Given the description of an element on the screen output the (x, y) to click on. 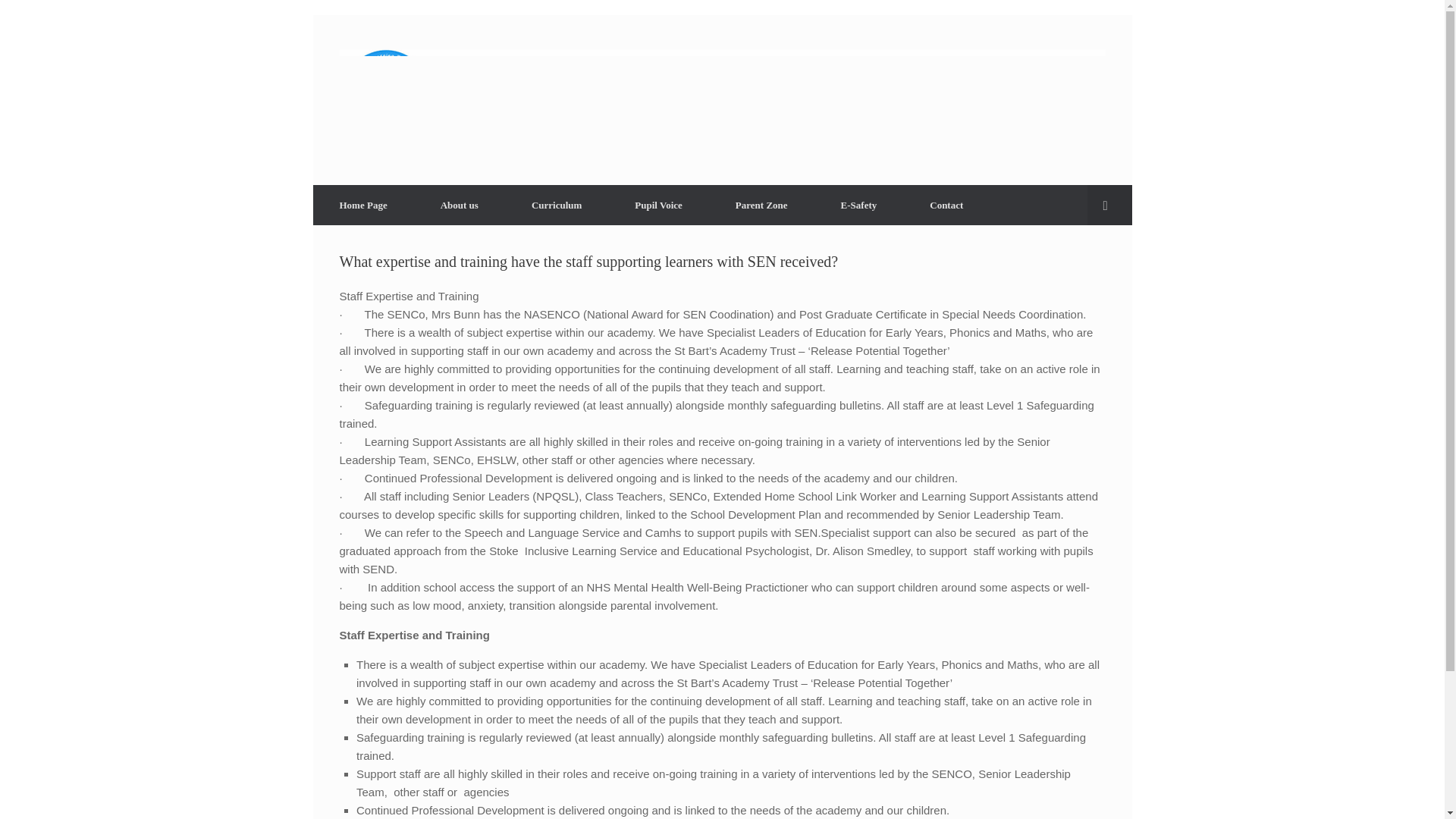
About us (459, 205)
Curriculum (556, 205)
Home Page (363, 205)
